Given the description of an element on the screen output the (x, y) to click on. 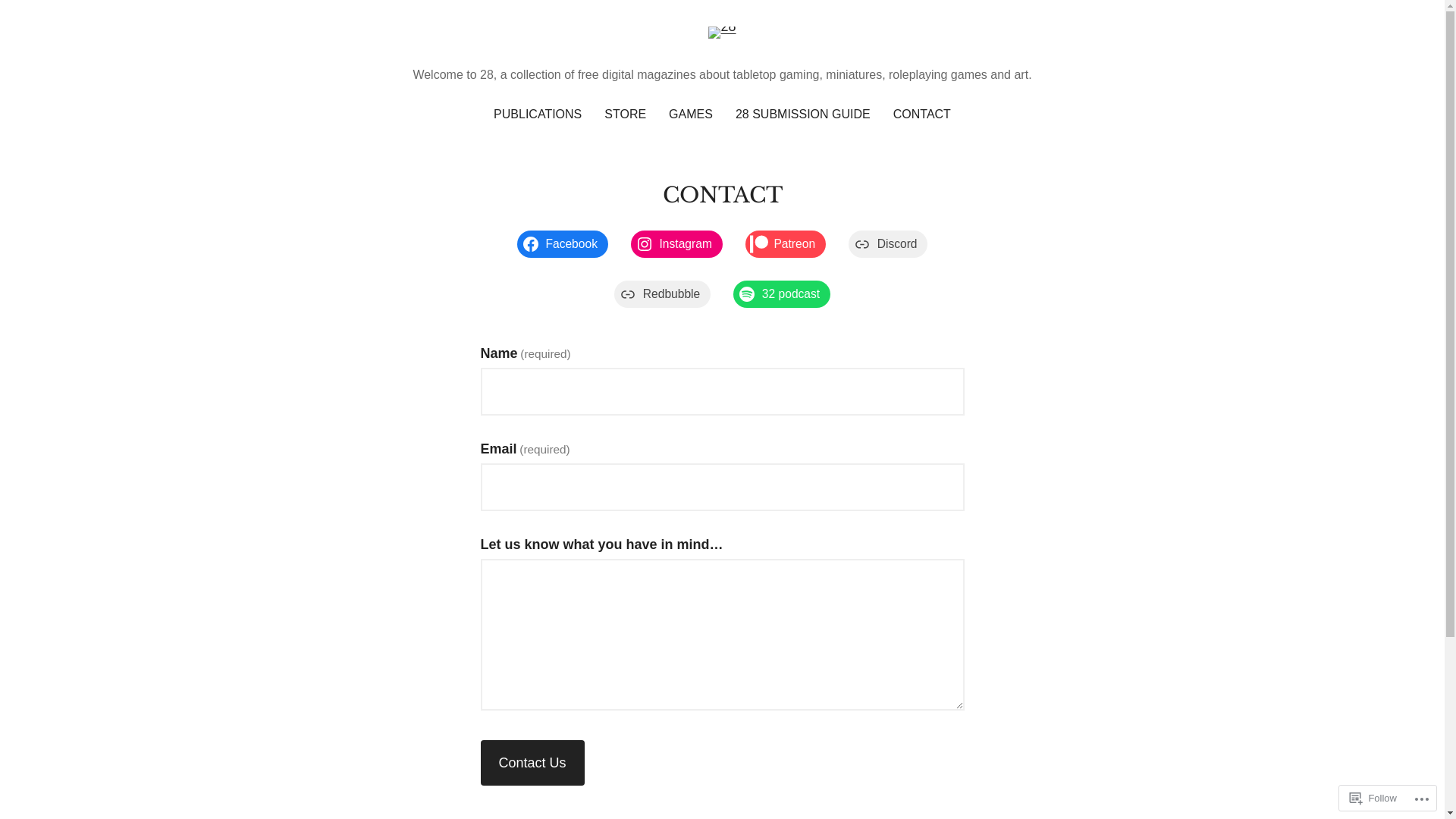
CONTACT Element type: text (921, 114)
PUBLICATIONS Element type: text (537, 114)
Facebook Element type: text (562, 243)
28 SUBMISSION GUIDE Element type: text (802, 114)
32 podcast Element type: text (781, 293)
Contact Us Element type: text (532, 762)
STORE Element type: text (625, 114)
Follow Element type: text (1372, 797)
GAMES Element type: text (690, 114)
Patreon Element type: text (785, 243)
Redbubble Element type: text (662, 293)
Discord Element type: text (887, 243)
Instagram Element type: text (676, 243)
